Given the description of an element on the screen output the (x, y) to click on. 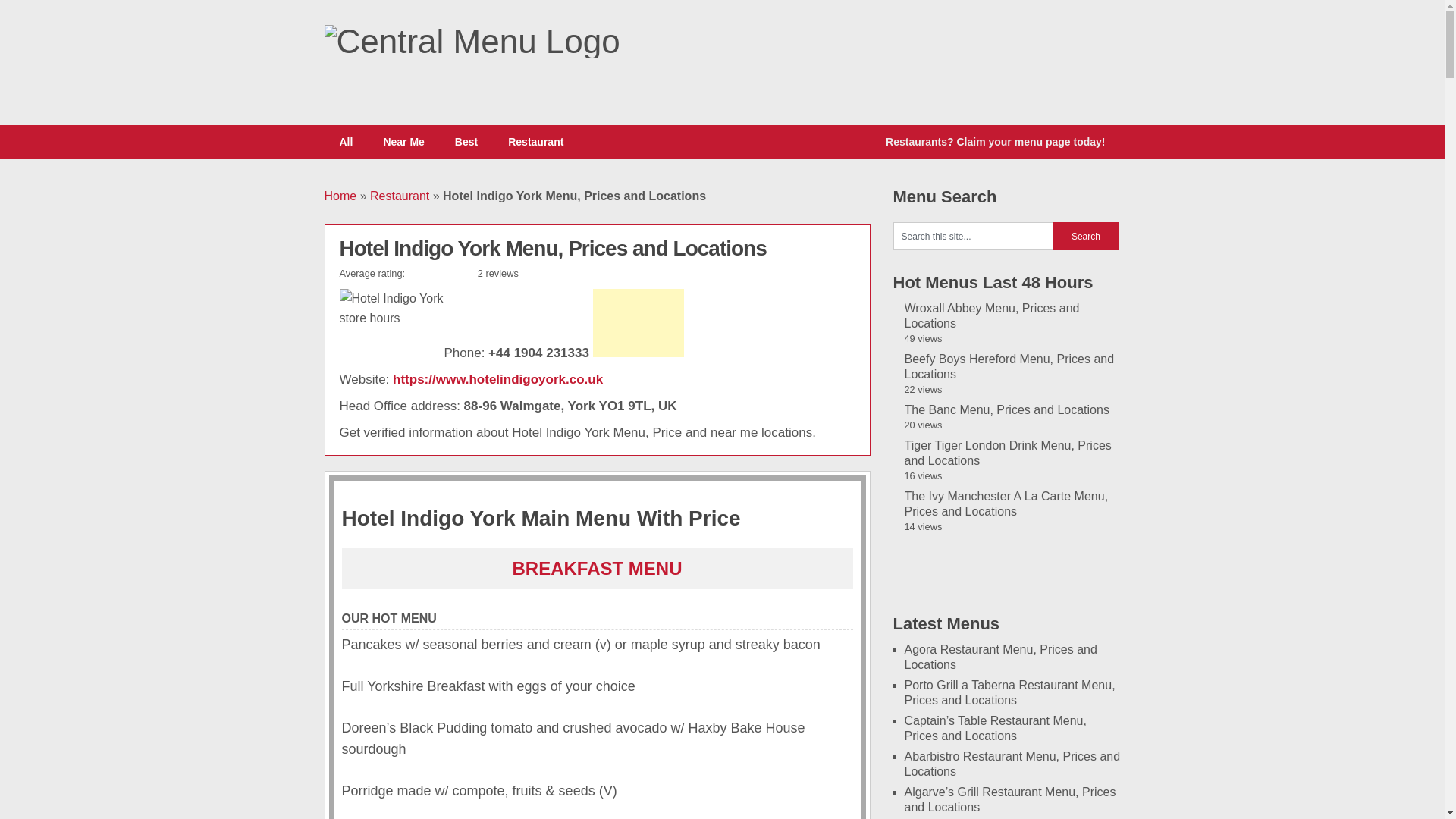
Wroxall Abbey Menu, Prices and Locations (991, 316)
Tiger Tiger London Drink Menu, Prices and Locations (1007, 452)
Agora Restaurant Menu, Prices and Locations (1000, 656)
Abarbistro Restaurant Menu, Prices and Locations (1011, 764)
Best (466, 141)
Near Me (403, 141)
The Ivy Manchester A La Carte Menu, Prices and Locations (1006, 503)
Search (1085, 235)
The Banc Menu, Prices and Locations (1006, 409)
Restaurant (399, 195)
Porto Grill a Taberna Restaurant Menu, Prices and Locations (1009, 692)
Hotel Indigo York (497, 379)
Home (340, 195)
Restaurants? Claim your menu page today! (994, 141)
